Given the description of an element on the screen output the (x, y) to click on. 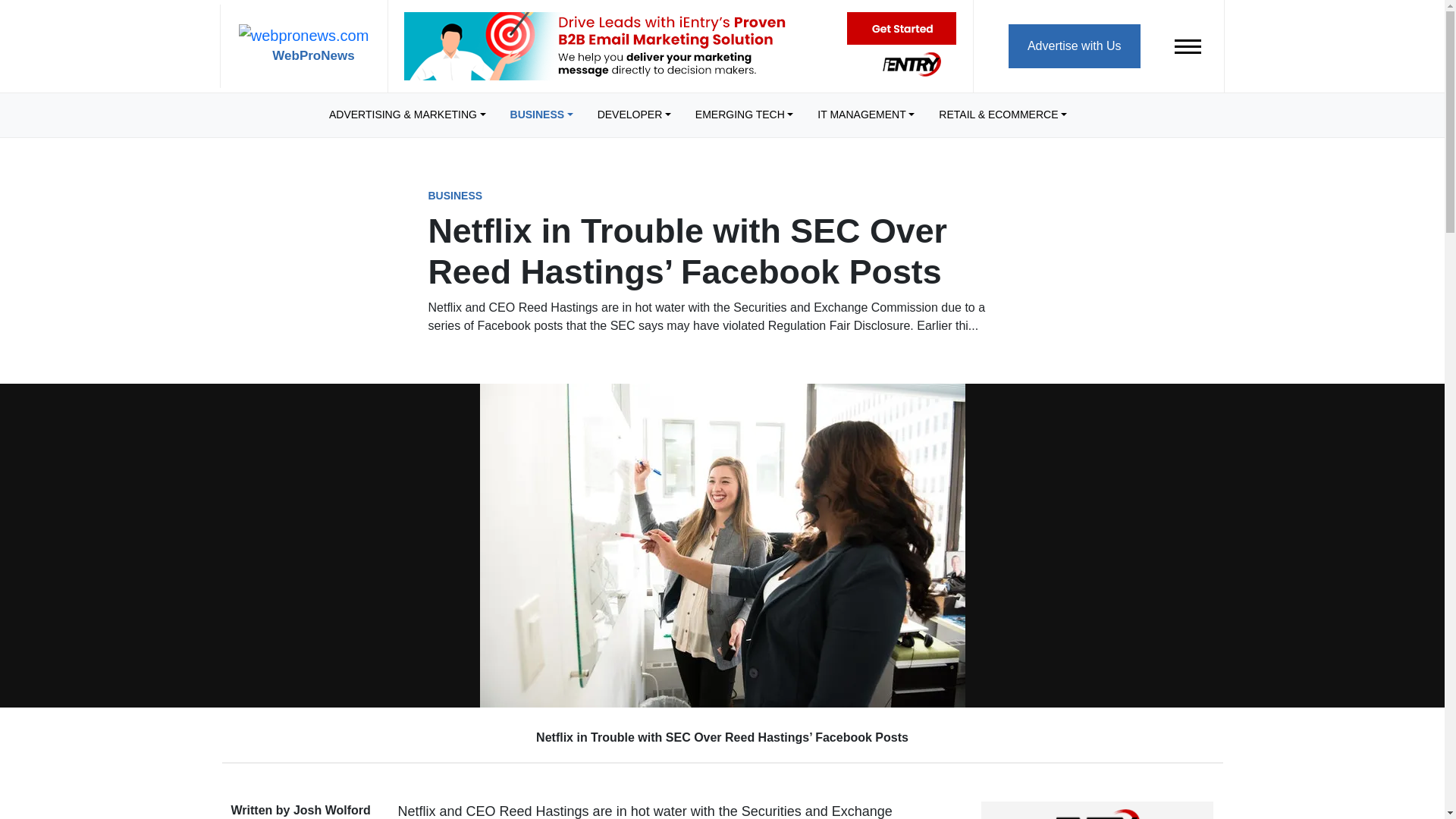
WebProNews (303, 46)
Advertise with Us (1074, 45)
